Given the description of an element on the screen output the (x, y) to click on. 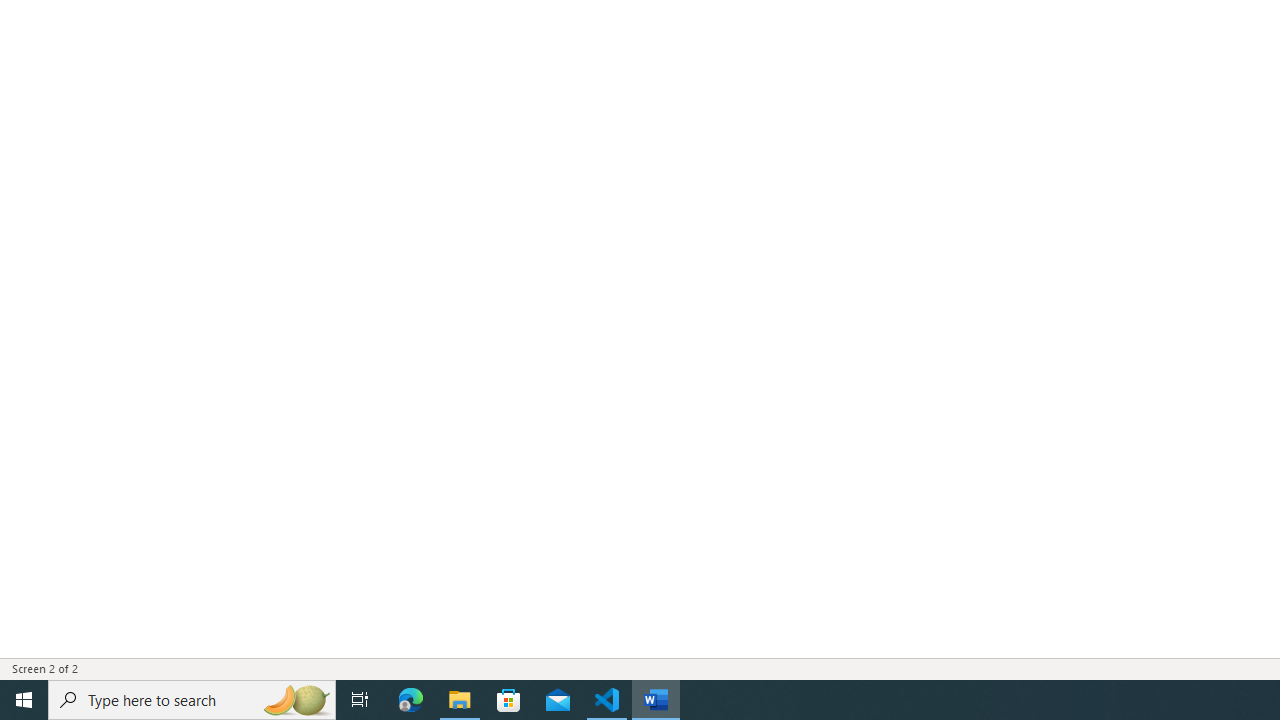
Page Number Screen 2 of 2  (52, 668)
